Given the description of an element on the screen output the (x, y) to click on. 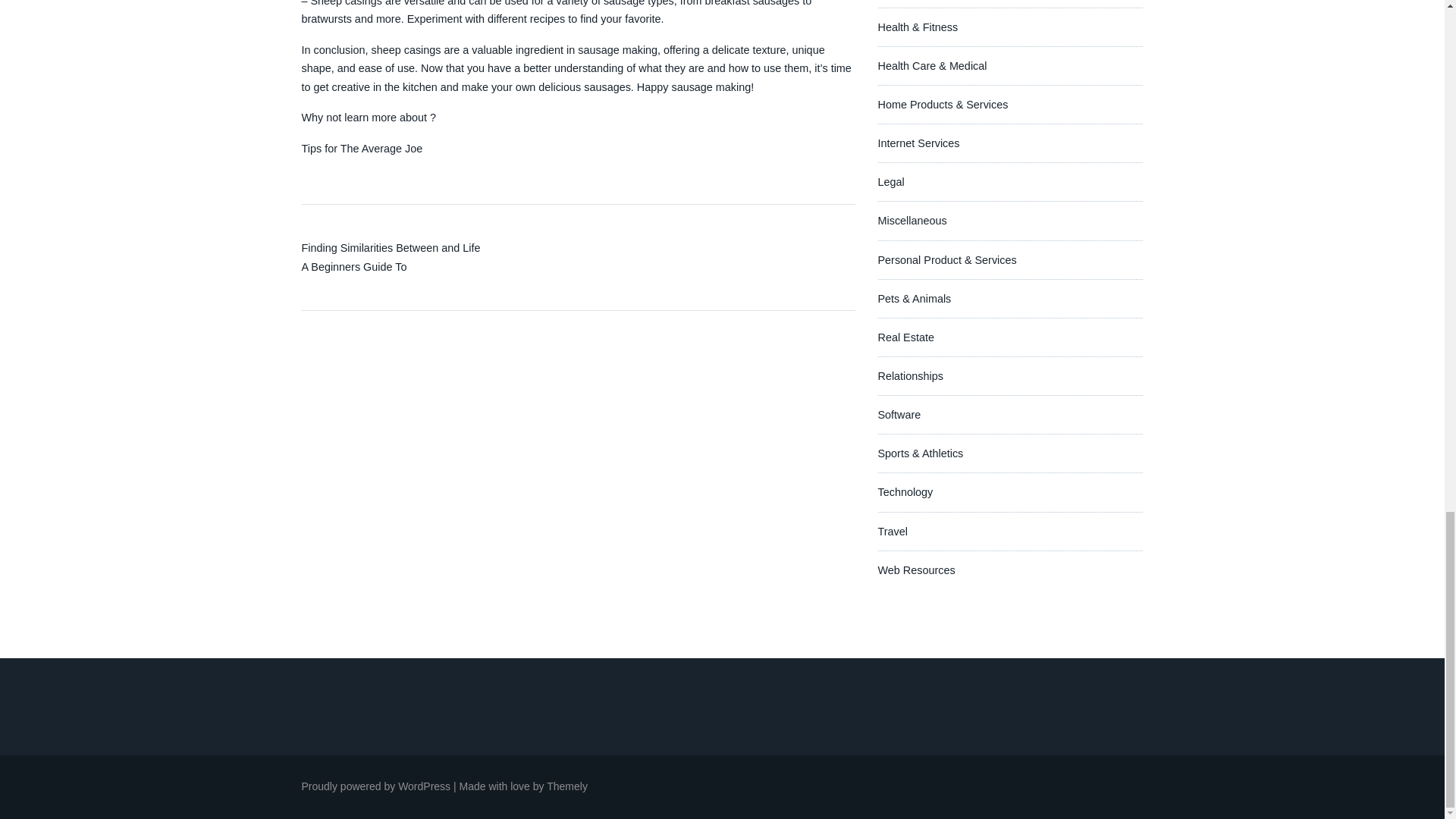
Miscellaneous (912, 220)
Finding Similarities Between and Life (390, 247)
Internet Services (918, 143)
Legal (890, 182)
Why not learn more about ? (368, 117)
A Beginners Guide To (354, 266)
Tips for The Average Joe (362, 148)
